Given the description of an element on the screen output the (x, y) to click on. 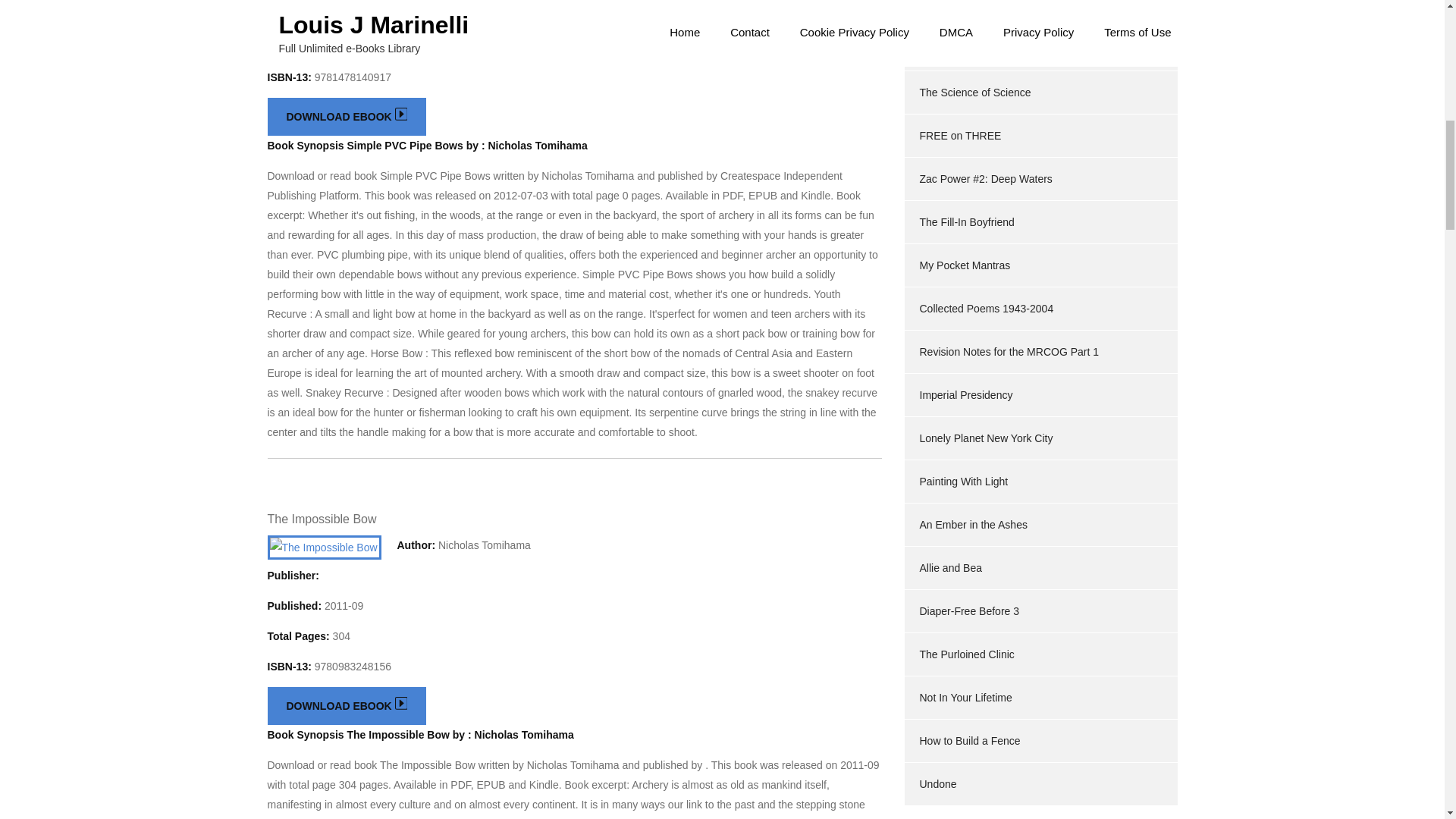
DOWNLOAD EBOOK (346, 116)
DOWNLOAD EBOOK (346, 705)
The Impossible Bow (320, 518)
